Given the description of an element on the screen output the (x, y) to click on. 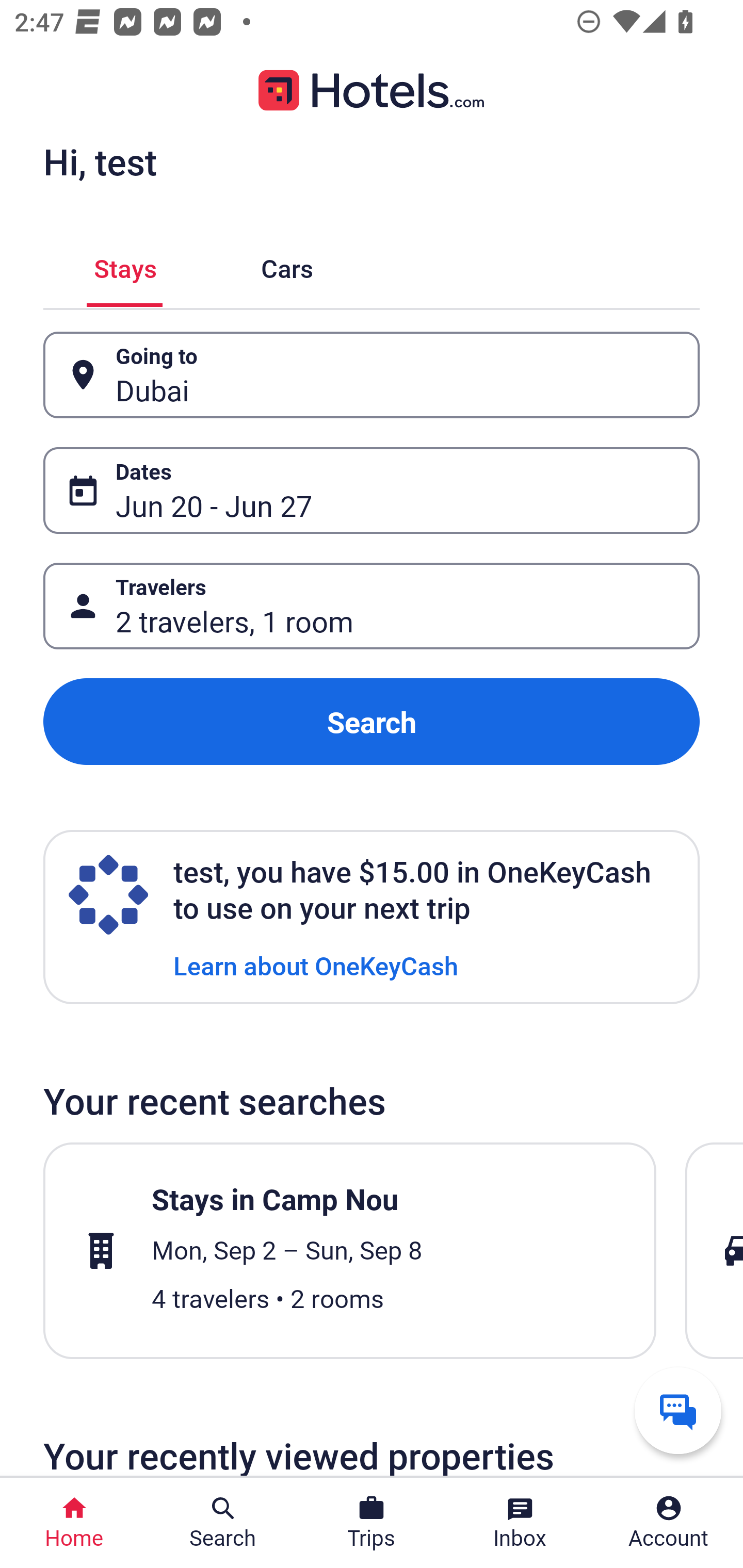
Hi, test (99, 161)
Cars (286, 265)
Going to Button Dubai (371, 375)
Dates Button Jun 20 - Jun 27 (371, 489)
Travelers Button 2 travelers, 1 room (371, 605)
Search (371, 721)
Learn about OneKeyCash Learn about OneKeyCash Link (315, 964)
Get help from a virtual agent (677, 1410)
Search Search Button (222, 1522)
Trips Trips Button (371, 1522)
Inbox Inbox Button (519, 1522)
Account Profile. Button (668, 1522)
